Given the description of an element on the screen output the (x, y) to click on. 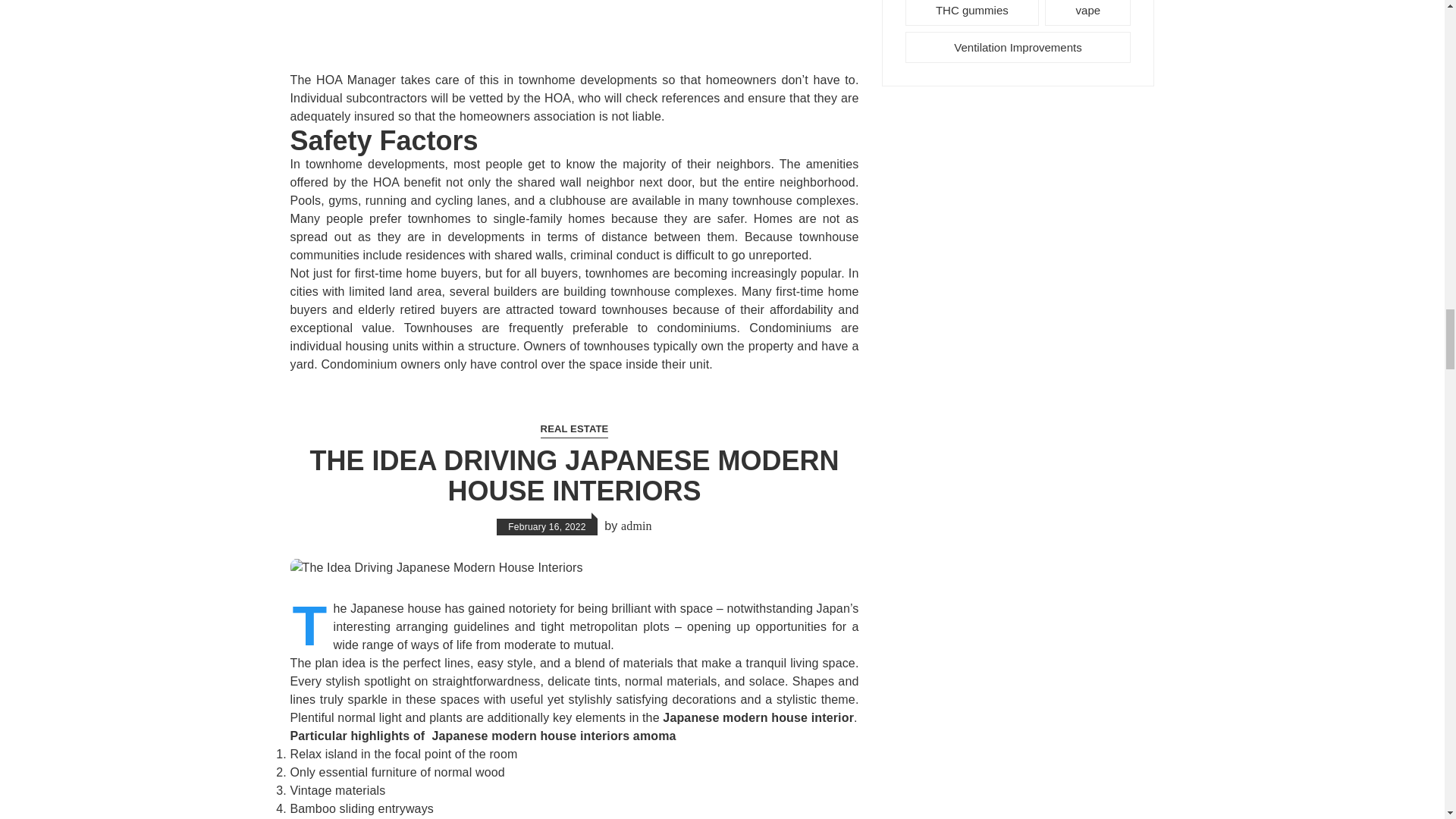
THE IDEA DRIVING JAPANESE MODERN HOUSE INTERIORS (573, 475)
REAL ESTATE (574, 429)
February 16, 2022 (546, 526)
admin (636, 525)
amoma (655, 735)
Japanese modern house interior (757, 717)
